Given the description of an element on the screen output the (x, y) to click on. 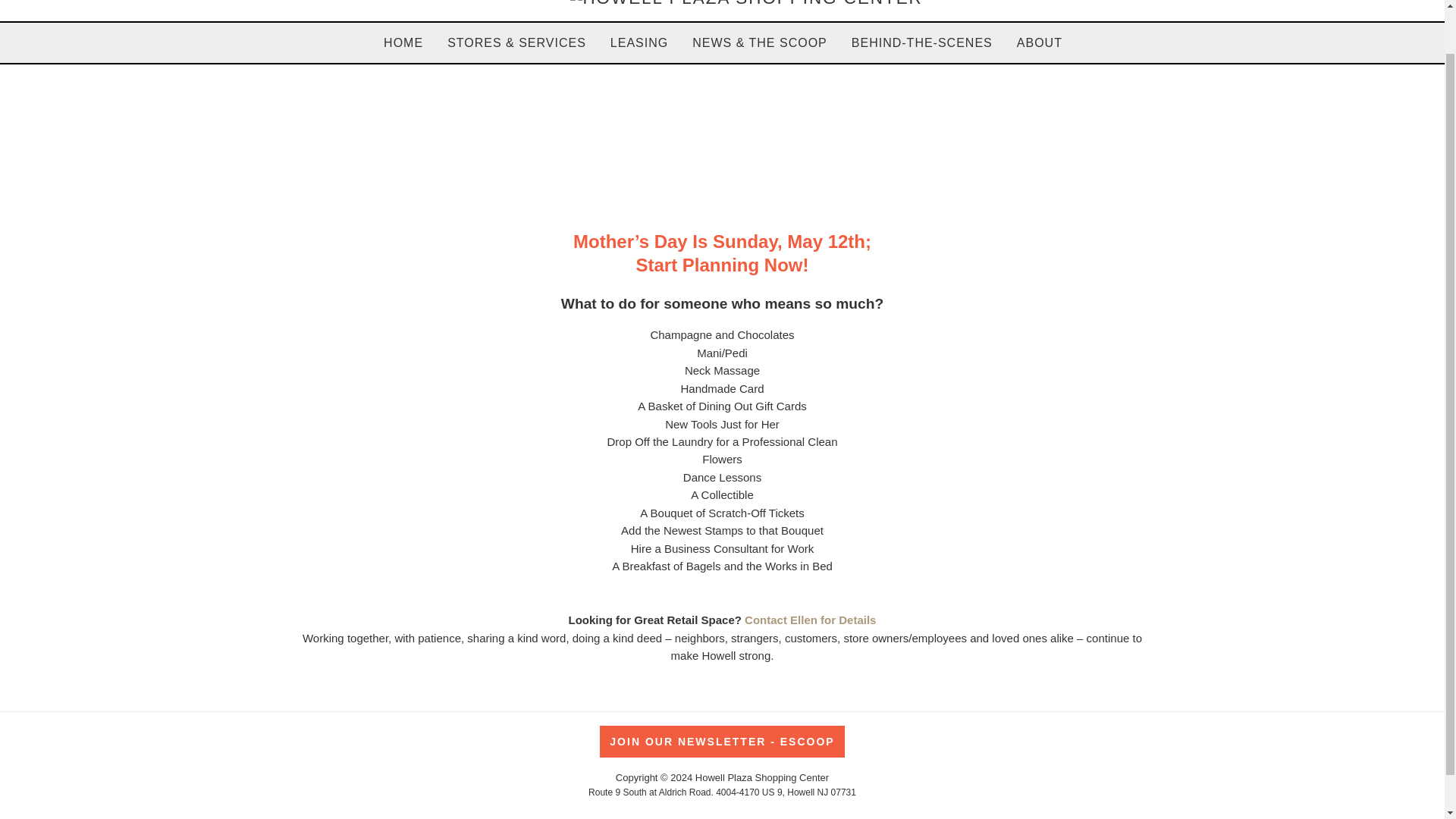
BEHIND-THE-SCENES (922, 42)
ABOUT (1039, 42)
LEASING (638, 42)
HOME (403, 42)
